Given the description of an element on the screen output the (x, y) to click on. 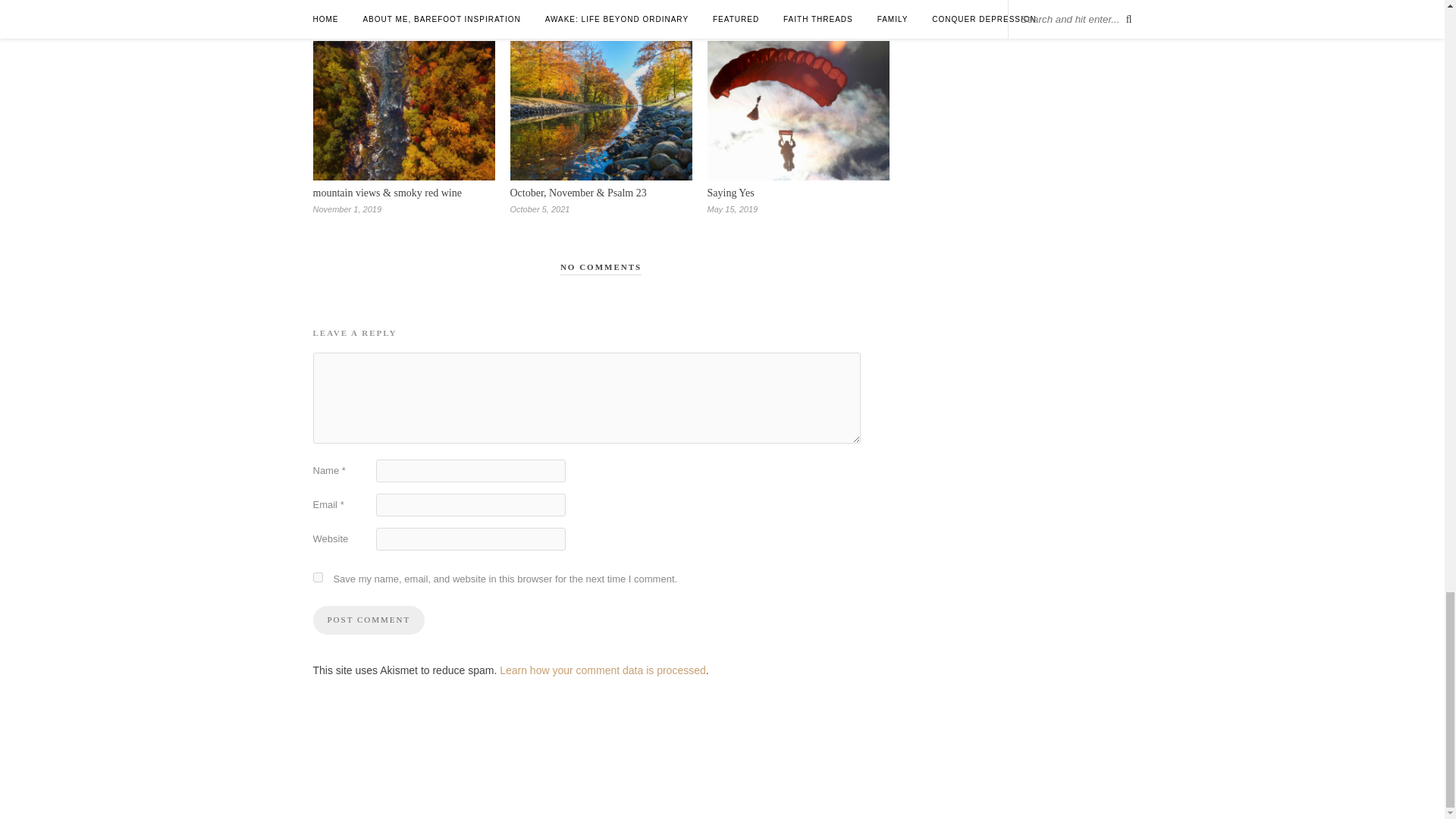
yes (317, 577)
Post Comment (369, 620)
